Given the description of an element on the screen output the (x, y) to click on. 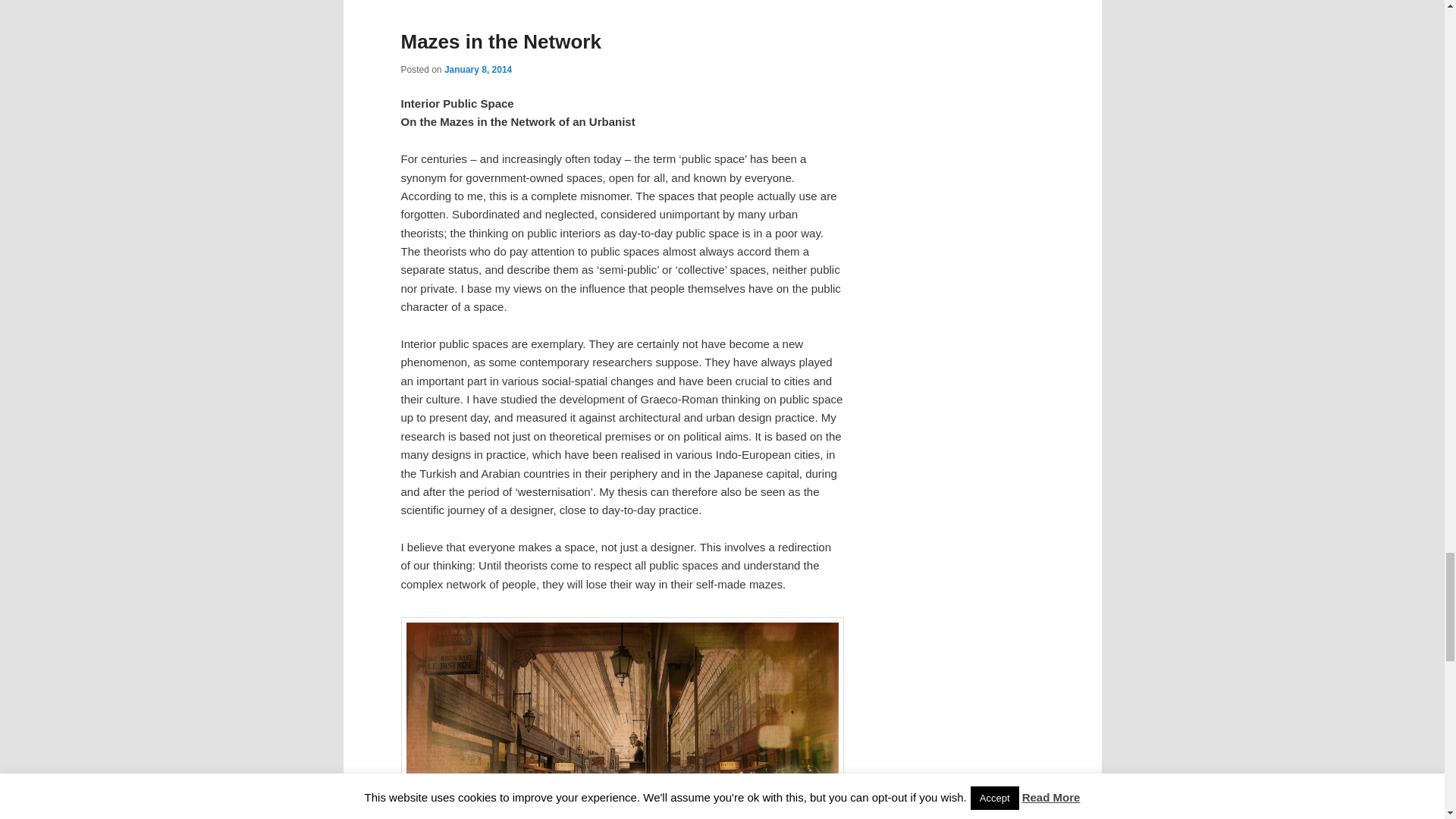
00:00 (478, 69)
